Given the description of an element on the screen output the (x, y) to click on. 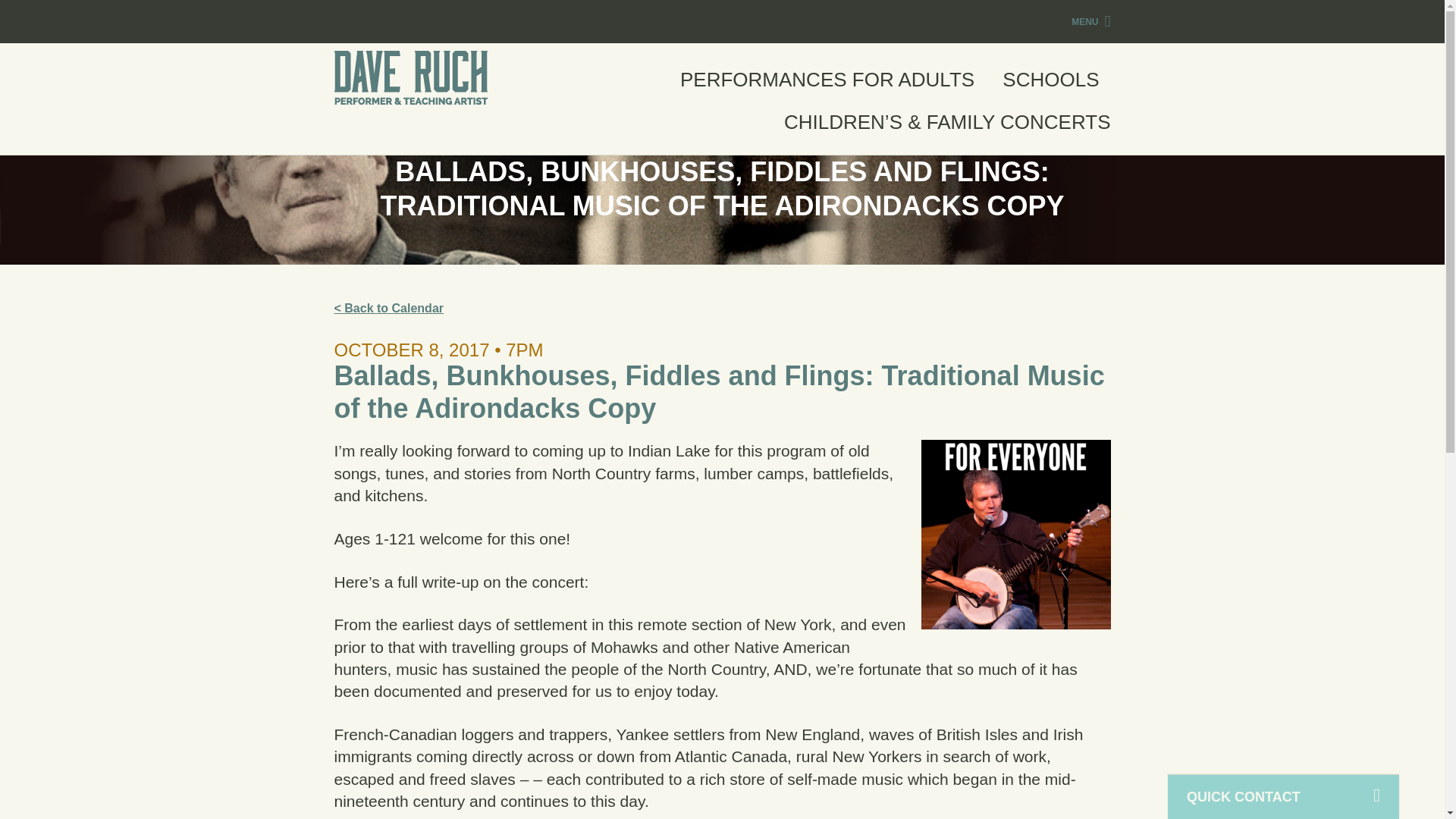
PERFORMANCES FOR ADULTS (826, 90)
SCHOOLS (1051, 90)
Dave Ruch (409, 76)
